Given the description of an element on the screen output the (x, y) to click on. 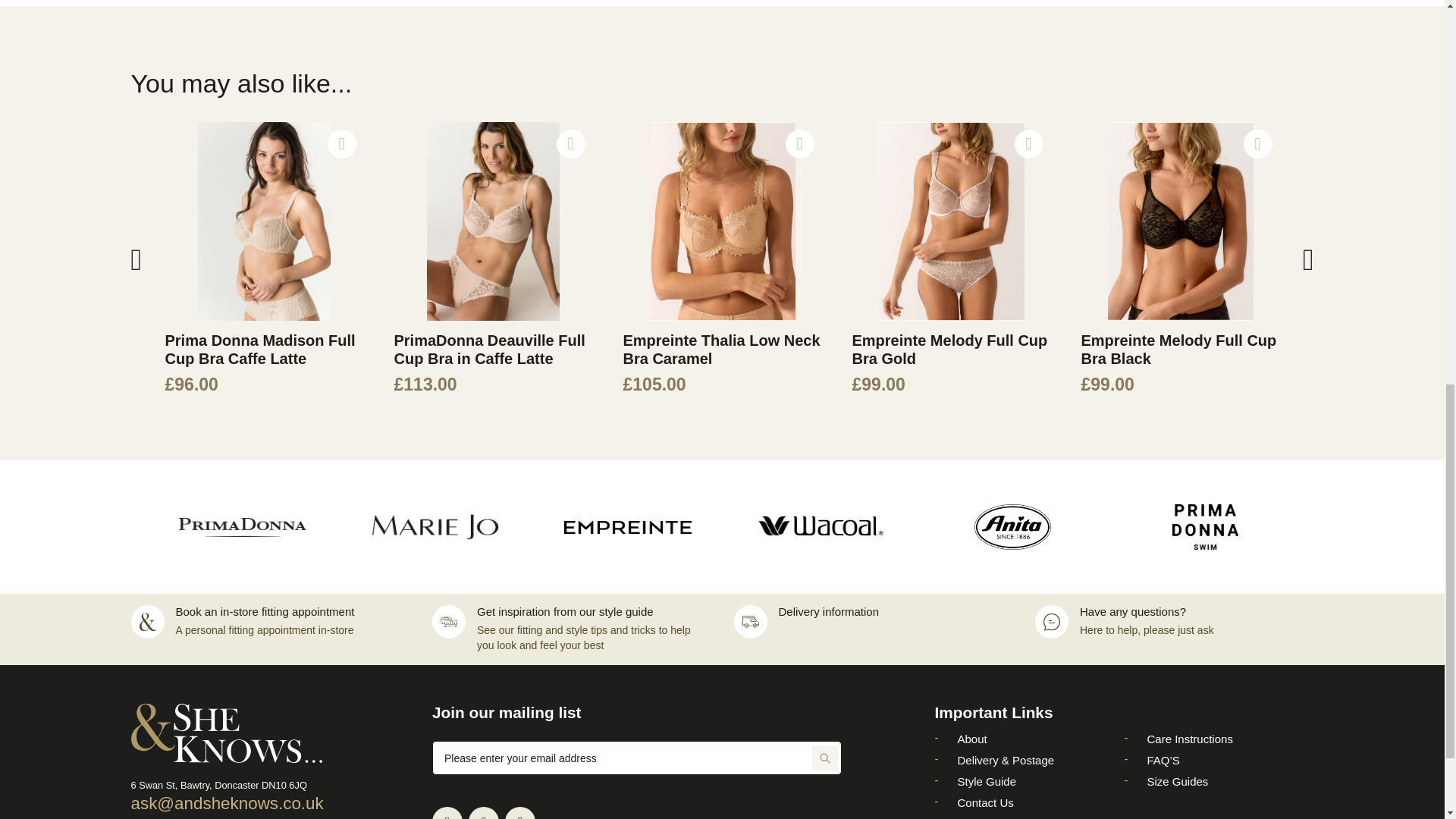
Submit (825, 758)
